Given the description of an element on the screen output the (x, y) to click on. 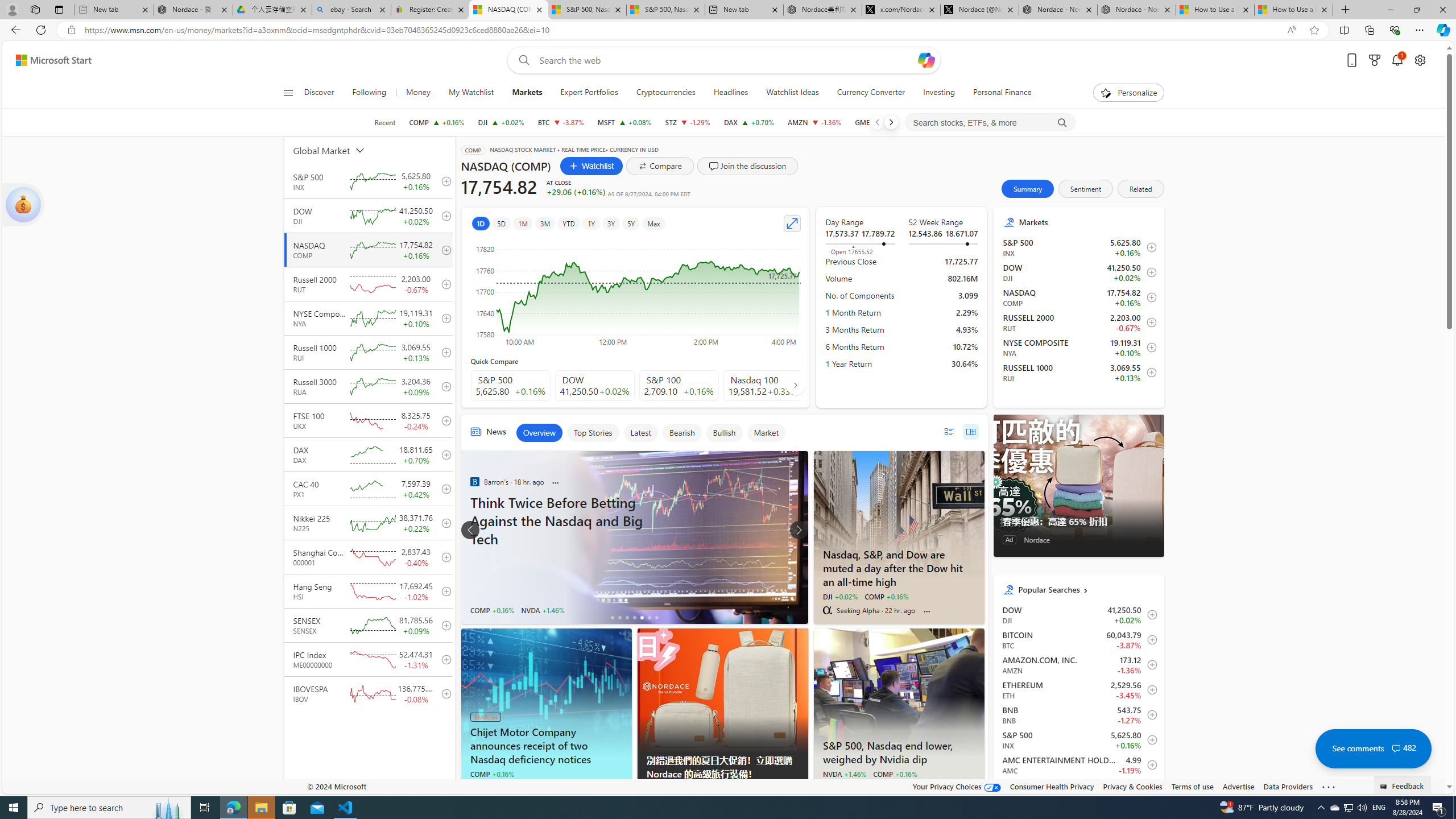
Compare (660, 166)
AutomationID: finance_carousel_navi_right (794, 384)
DJI DOW increase 41,250.50 +9.98 +0.02% itemundefined (1078, 614)
ADA Cardano decrease 0.36 -0.00 -1.27% itemundefined (1078, 789)
Next (890, 122)
Advertise (1238, 786)
x.com/NordaceOfficial (900, 9)
STZ CONSTELLATION BRANDS, INC. decrease 239.98 -3.13 -1.29% (687, 122)
Personalize (1128, 92)
Previous (876, 122)
Money (418, 92)
